Given the description of an element on the screen output the (x, y) to click on. 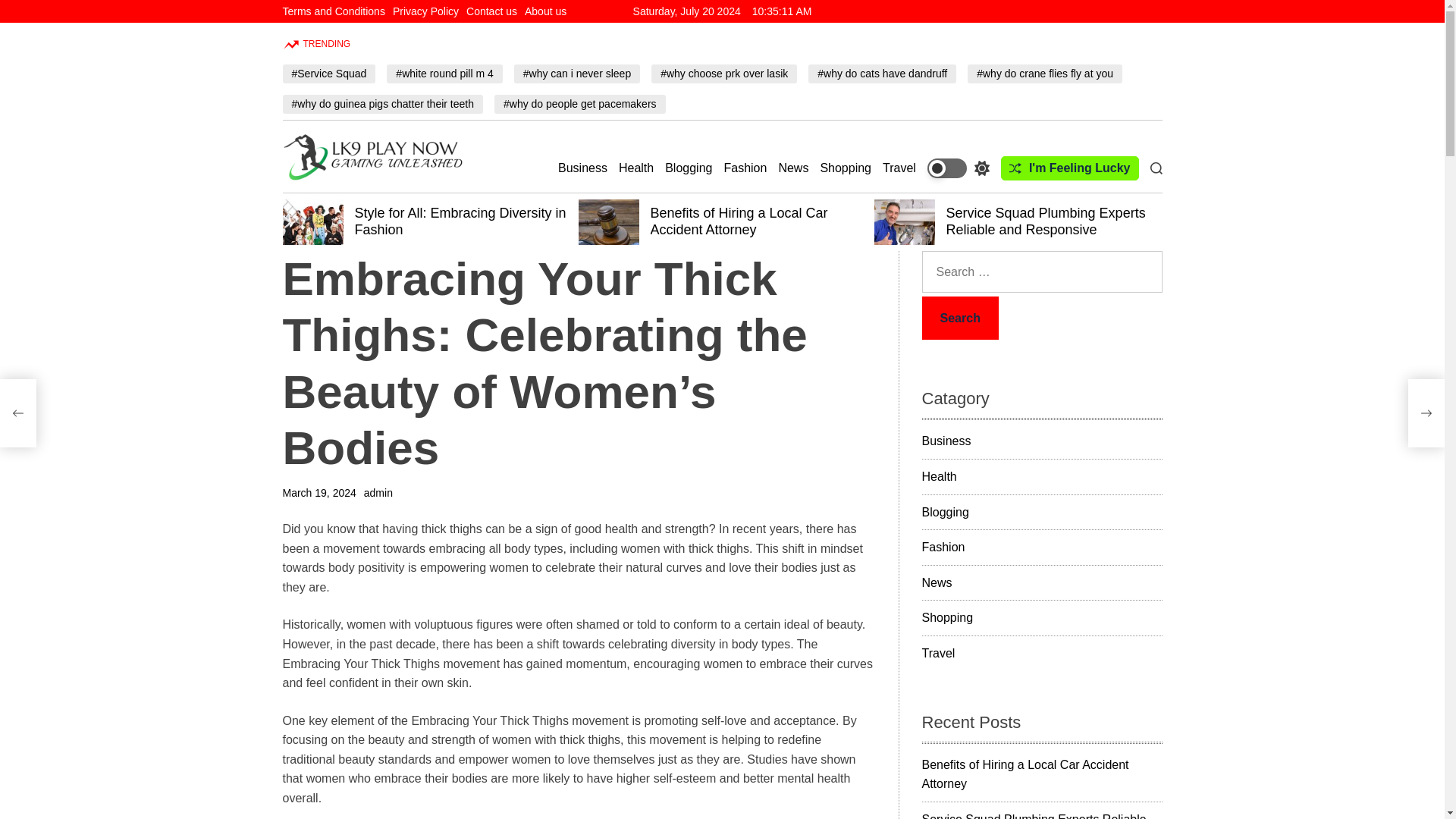
Business (582, 167)
Service Squad Plumbing Experts Reliable and Responsive (1045, 221)
Benefits of Hiring a Local Car Accident Attorney (739, 221)
Switch color mode (958, 168)
Fashion (745, 167)
Health (635, 167)
Style for All: Embracing Diversity in Fashion (460, 221)
News (792, 167)
Search (959, 317)
Shopping (844, 167)
Travel (898, 167)
March 19, 2024 (318, 492)
Terms and Conditions (333, 10)
Search (959, 317)
Privacy Policy (425, 10)
